Given the description of an element on the screen output the (x, y) to click on. 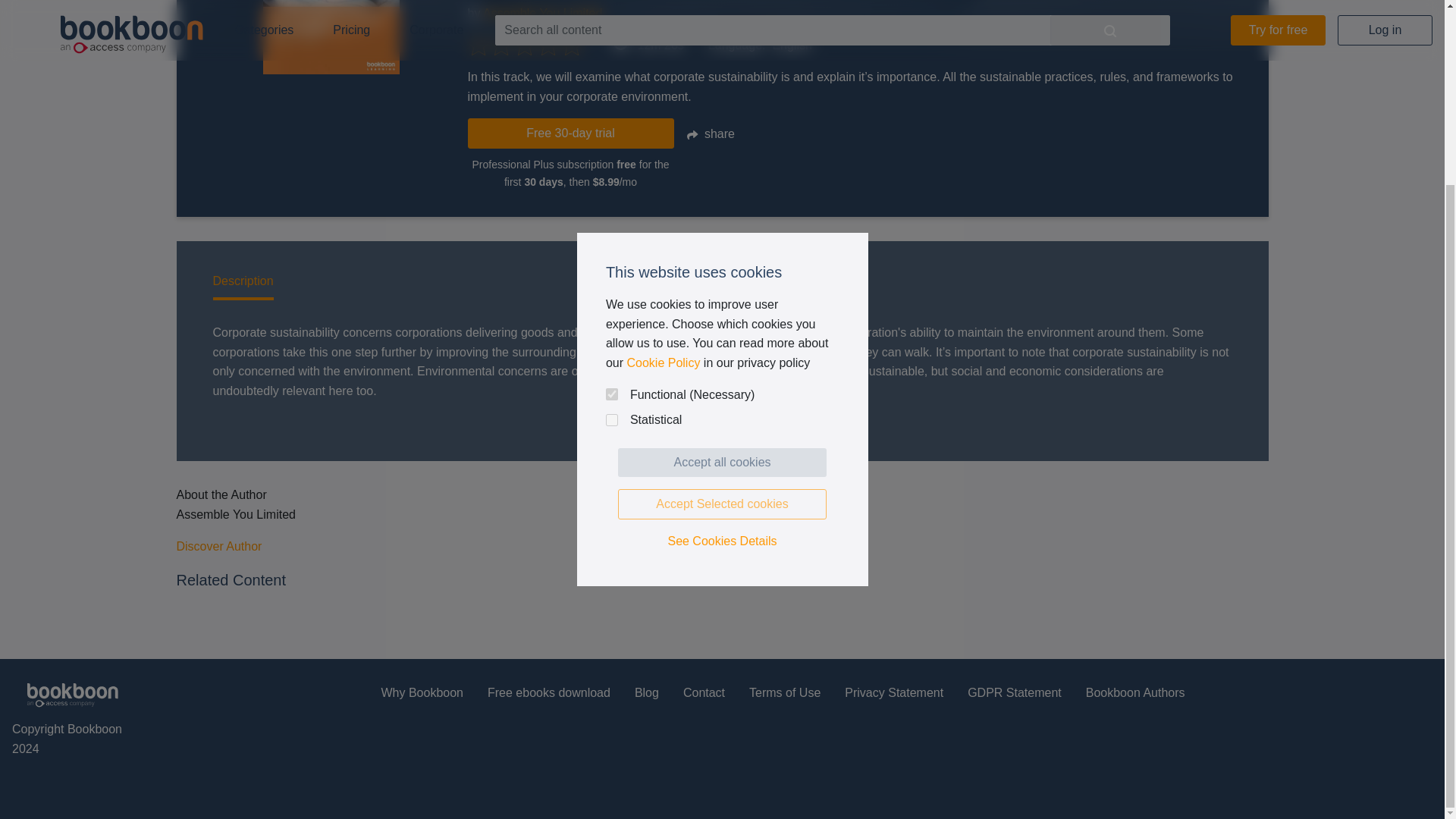
STATISTICAL (611, 191)
Accept Selected cookies (722, 276)
Cookie Policy (663, 133)
Accept all cookies (722, 234)
FUNCTIONAL (611, 165)
See Cookies Details (722, 312)
